Given the description of an element on the screen output the (x, y) to click on. 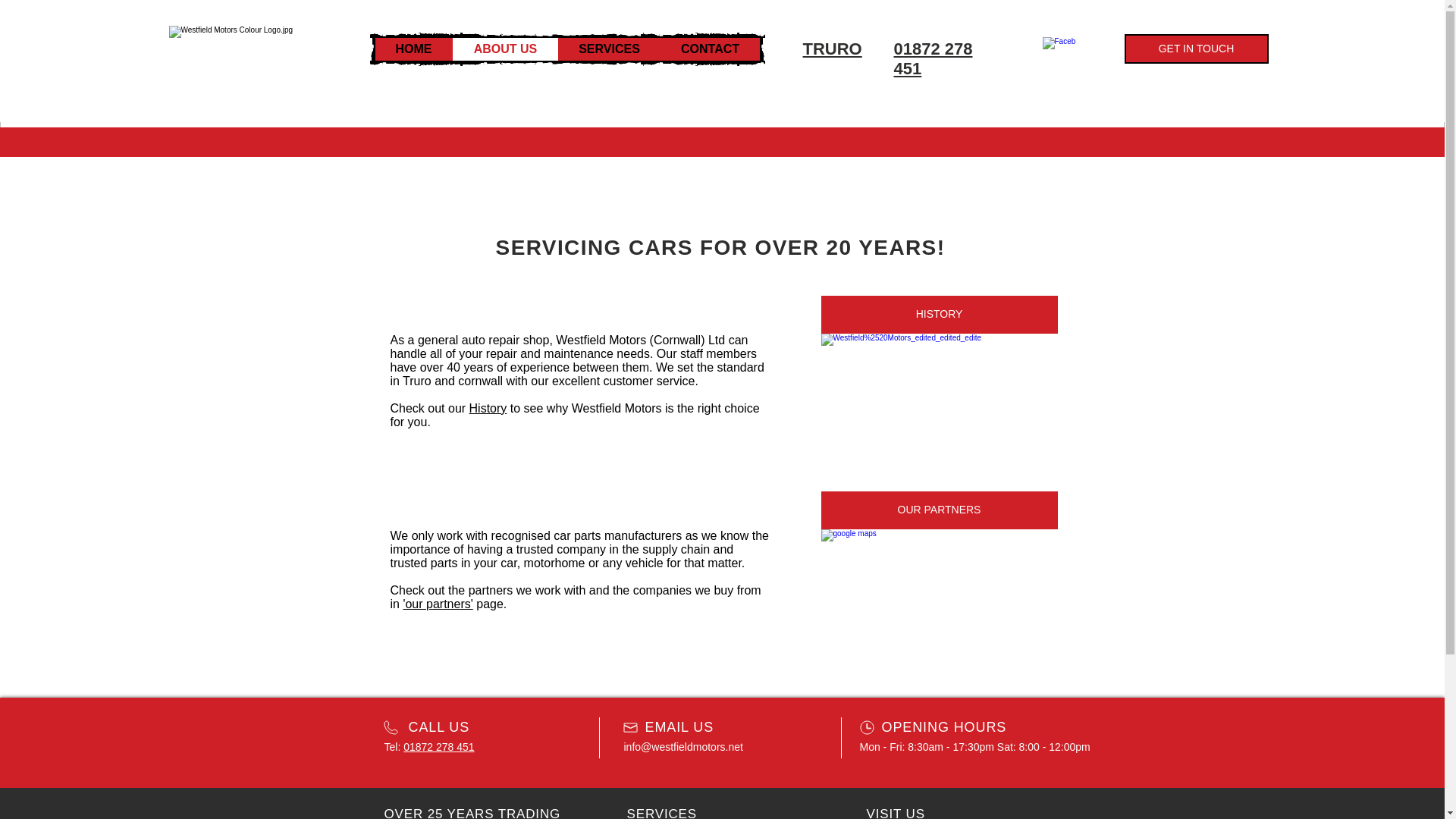
CONTACT (708, 48)
HOME (412, 48)
HISTORY (939, 314)
OUR PARTNERS (939, 510)
SERVICES (609, 48)
'our partners' (437, 603)
GET IN TOUCH (1196, 48)
ABOUT US (504, 48)
History (487, 408)
